Given the description of an element on the screen output the (x, y) to click on. 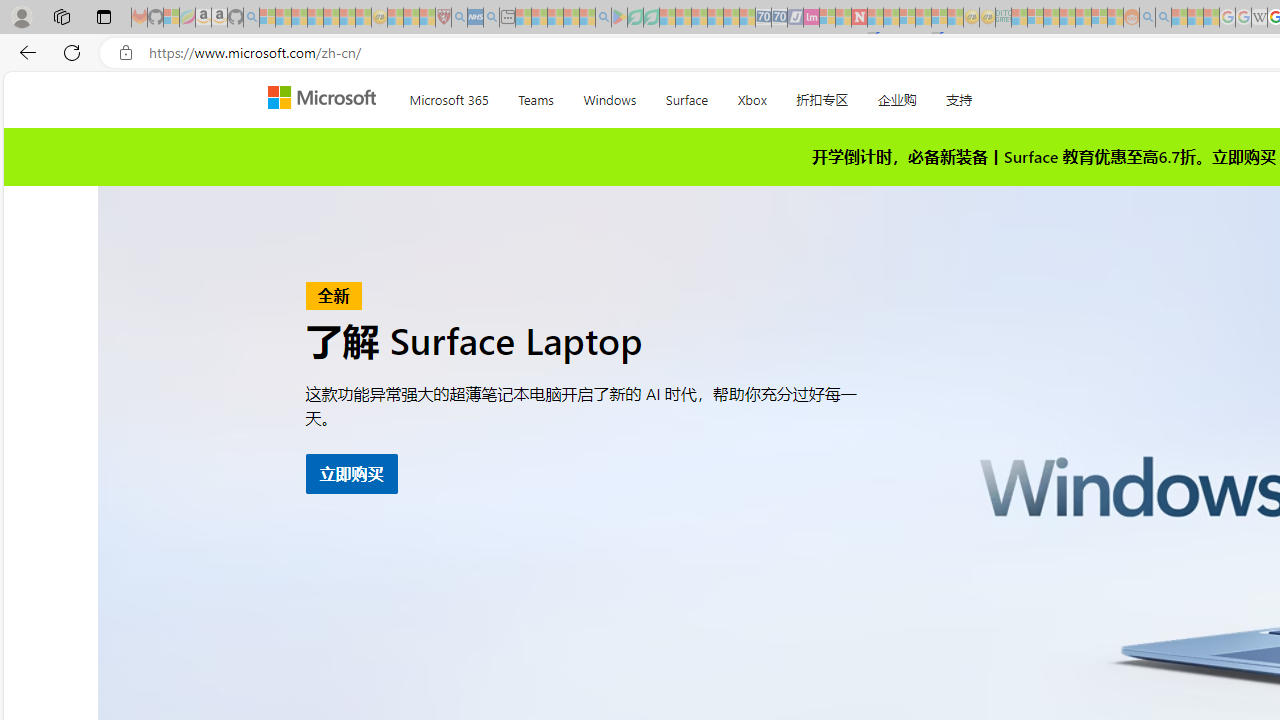
Robert H. Shmerling, MD - Harvard Health - Sleeping (443, 17)
Terms of Use Agreement - Sleeping (635, 17)
Surface (686, 96)
Cheap Hotels - Save70.com - Sleeping (779, 17)
utah sues federal government - Search - Sleeping (491, 17)
Target page - Wikipedia - Sleeping (1259, 17)
Teams (536, 96)
Microsoft (326, 99)
14 Common Myths Debunked By Scientific Facts - Sleeping (891, 17)
New Report Confirms 2023 Was Record Hot | Watch - Sleeping (331, 17)
Jobs - lastminute.com Investor Portal - Sleeping (811, 17)
